Given the description of an element on the screen output the (x, y) to click on. 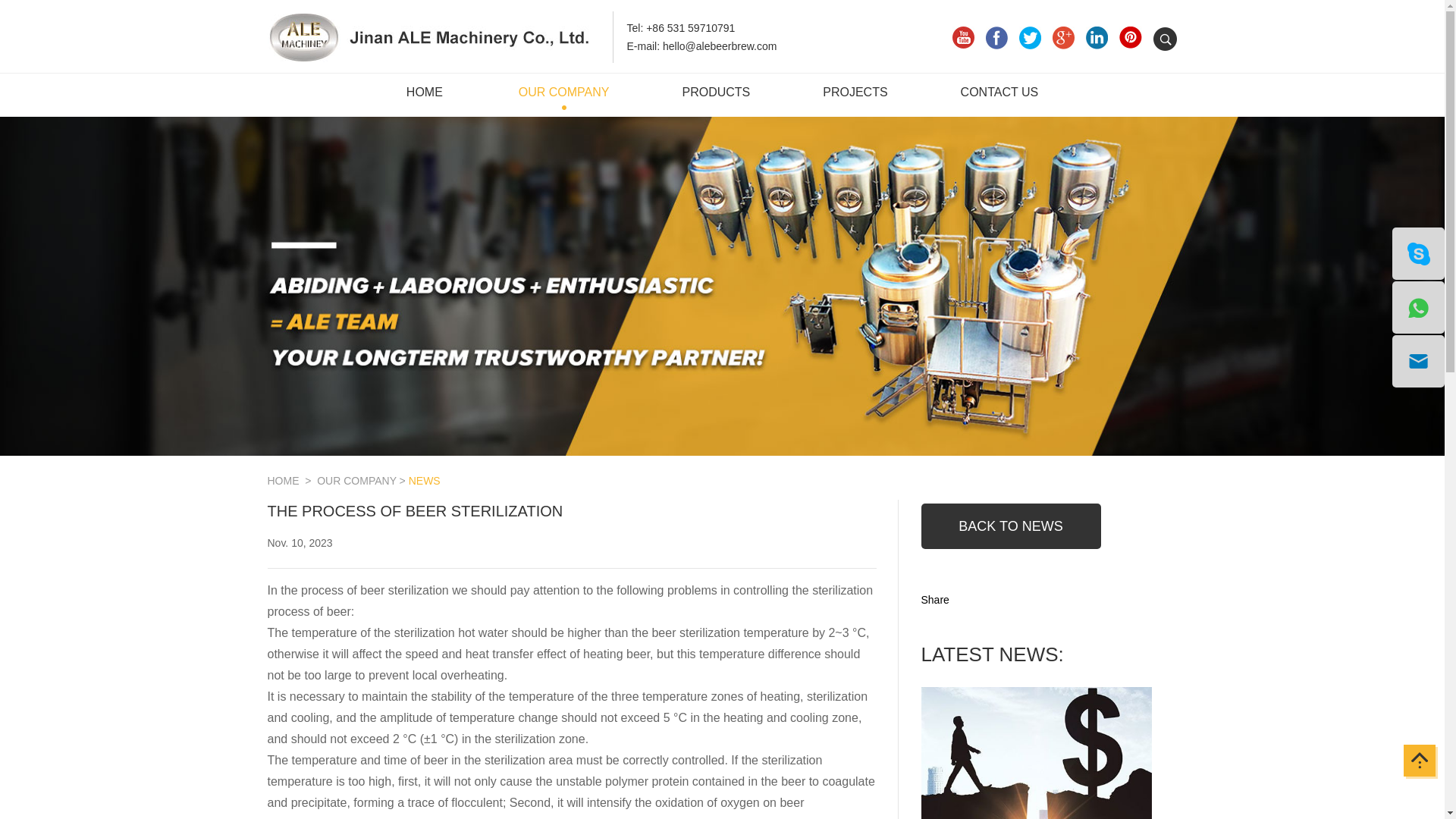
Jinan ALE Machinery Co., Ltd (429, 37)
Jinan ALE Machinery Co., Ltd (429, 58)
Products (715, 97)
Our Company (564, 97)
